Given the description of an element on the screen output the (x, y) to click on. 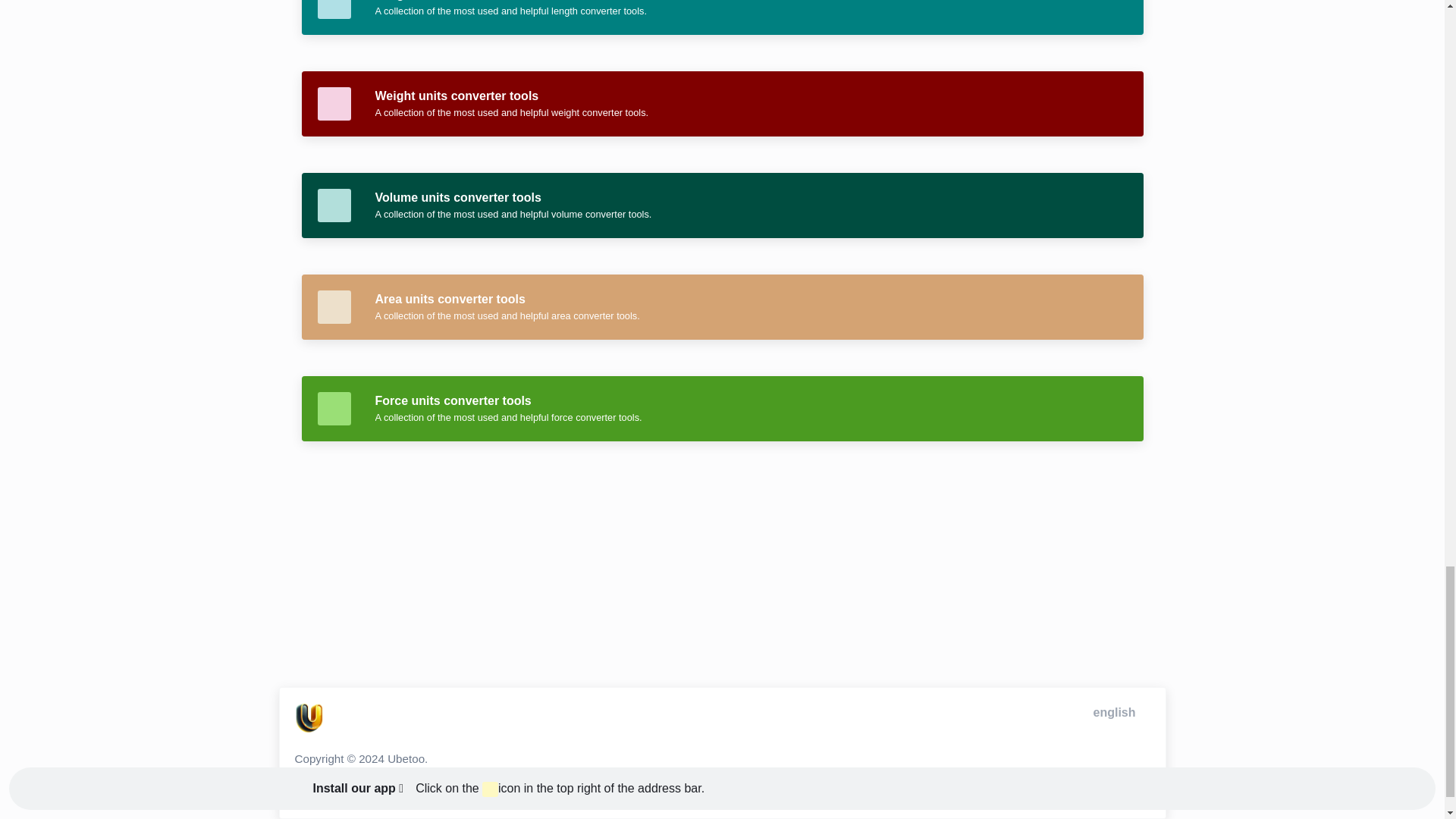
Choose language (1112, 712)
english (1112, 712)
